Given the description of an element on the screen output the (x, y) to click on. 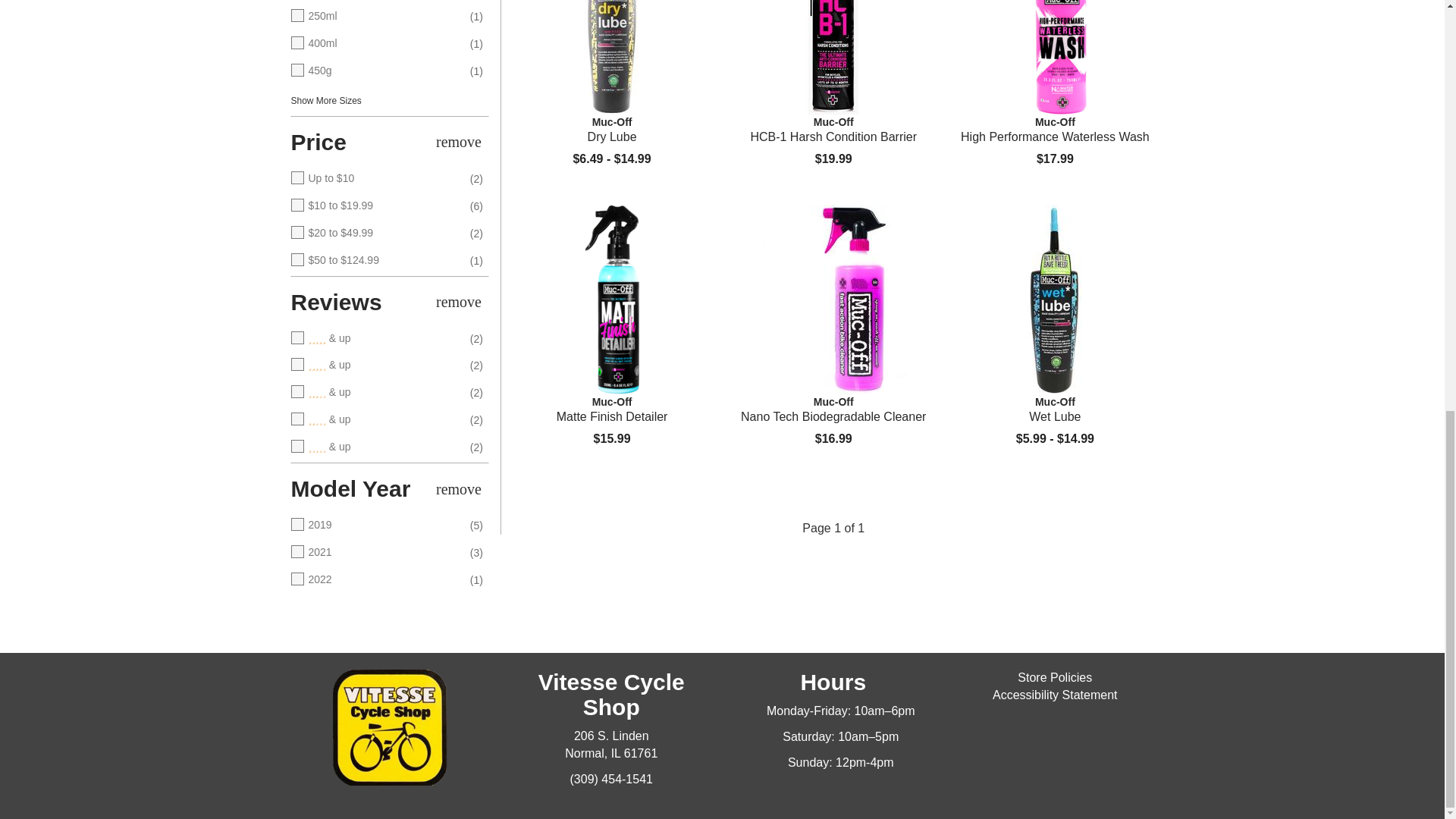
1 (374, 447)
5 (374, 337)
4 (374, 365)
3 (374, 392)
2 (374, 419)
